Given the description of an element on the screen output the (x, y) to click on. 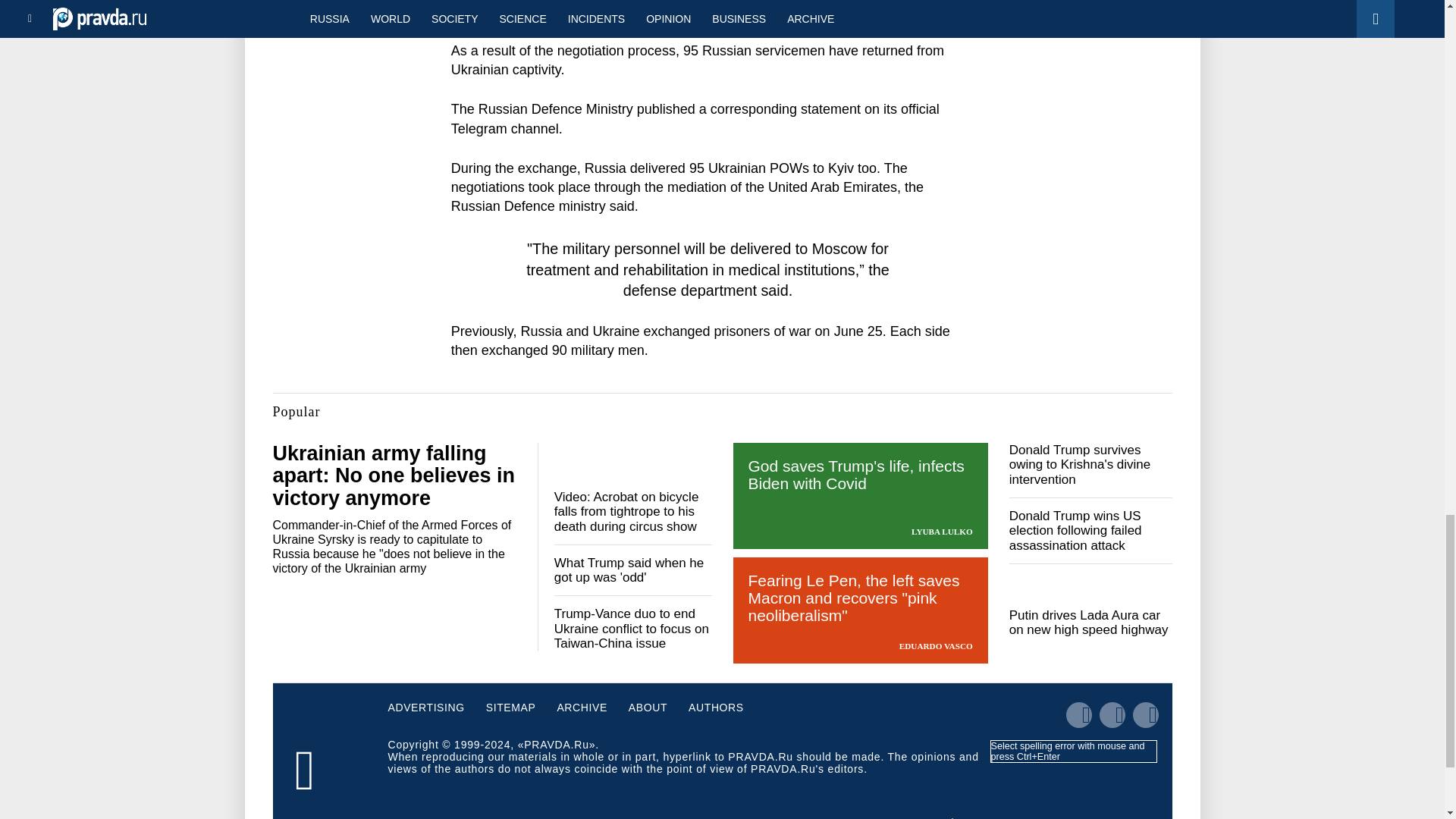
Russia and Ukraine exchange 95 prisoners of war (708, 4)
